Given the description of an element on the screen output the (x, y) to click on. 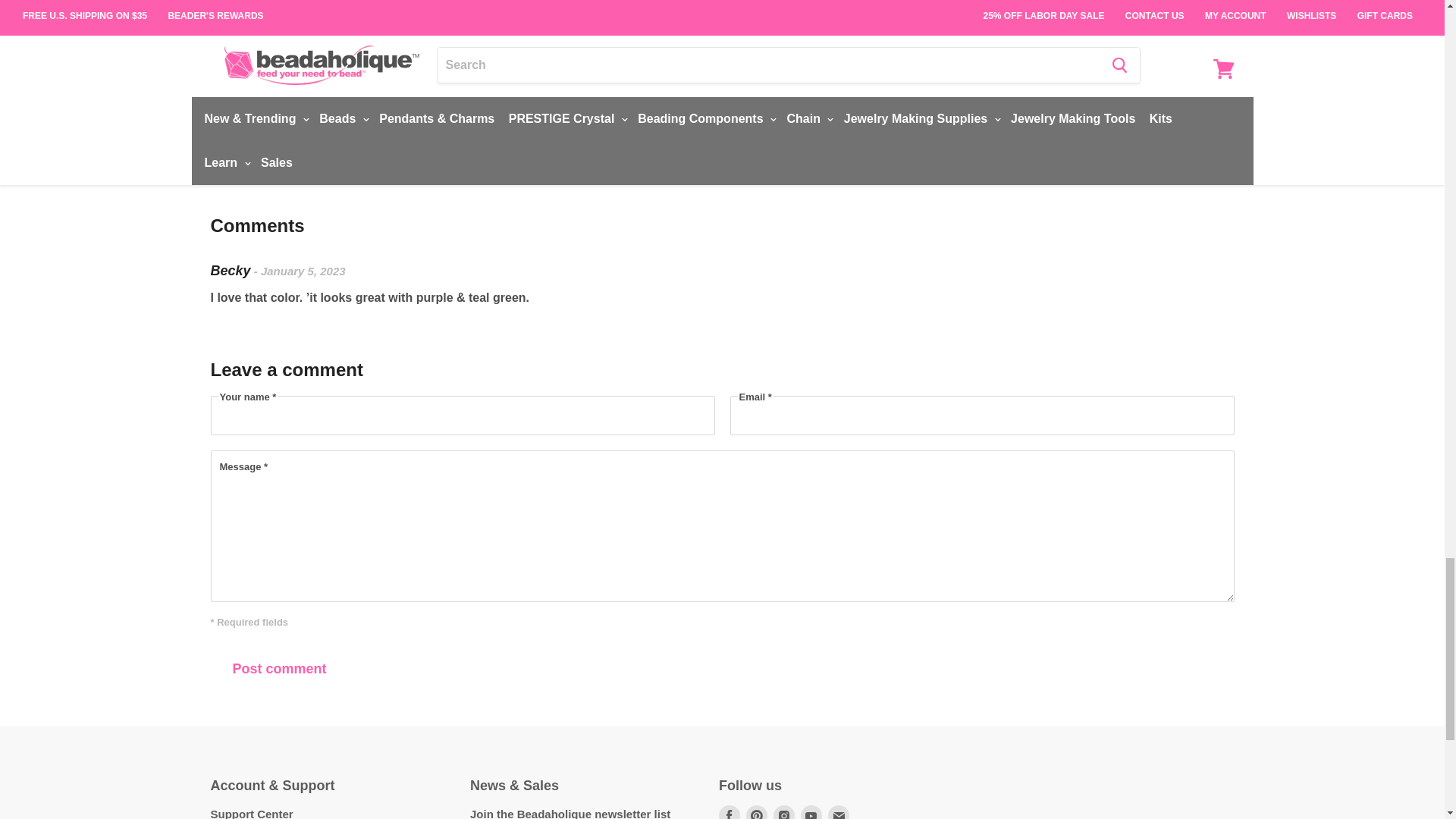
Instagram (783, 810)
Youtube (811, 810)
E-mail (838, 810)
Facebook (729, 810)
Pinterest (756, 810)
